Given the description of an element on the screen output the (x, y) to click on. 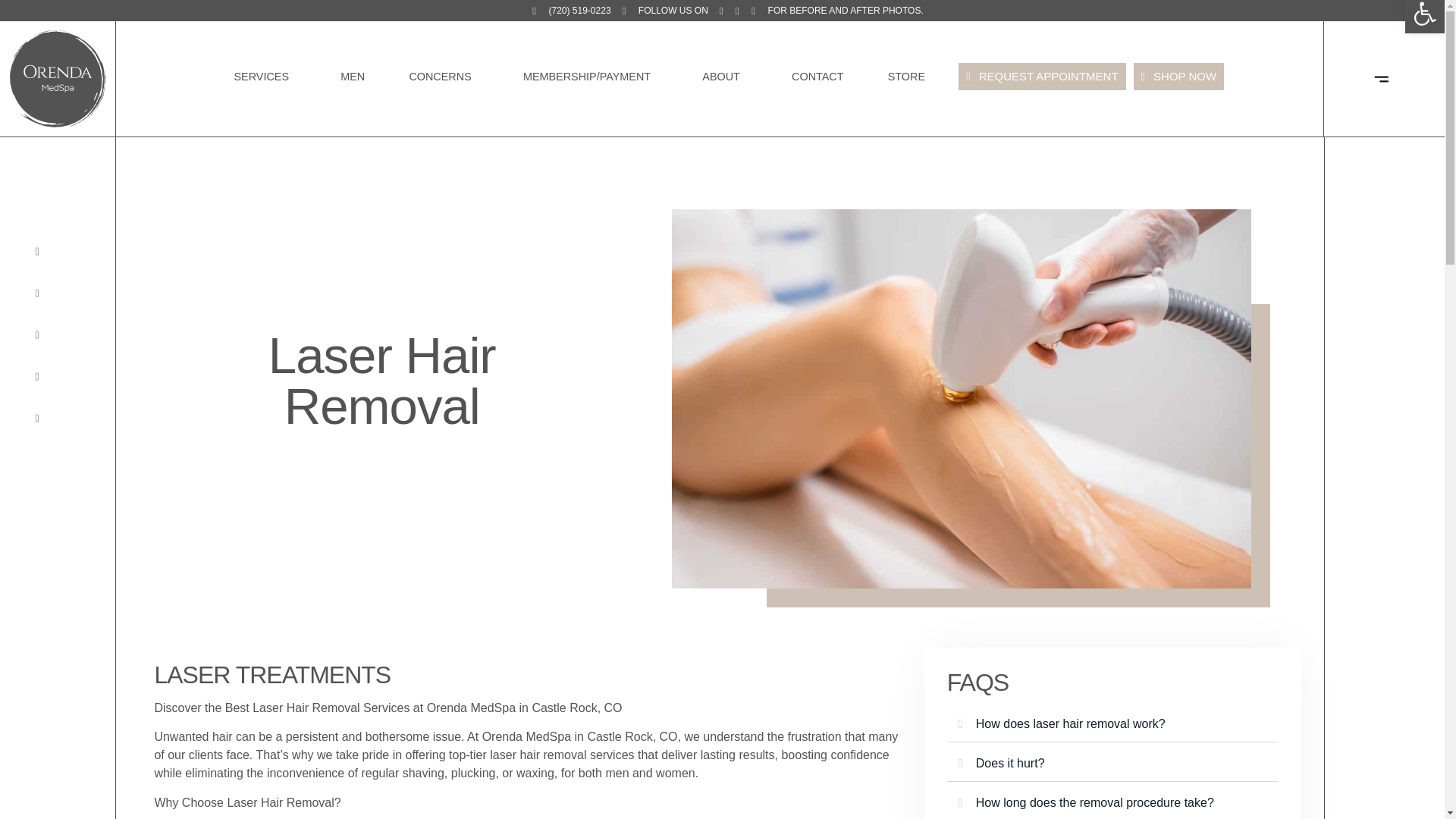
MEN (352, 76)
Accessibility Tools (1424, 16)
FOR BEFORE AND AFTER PHOTOS. (1424, 16)
CONCERNS (837, 10)
SERVICES (443, 76)
Accessibility Tools (264, 76)
